Given the description of an element on the screen output the (x, y) to click on. 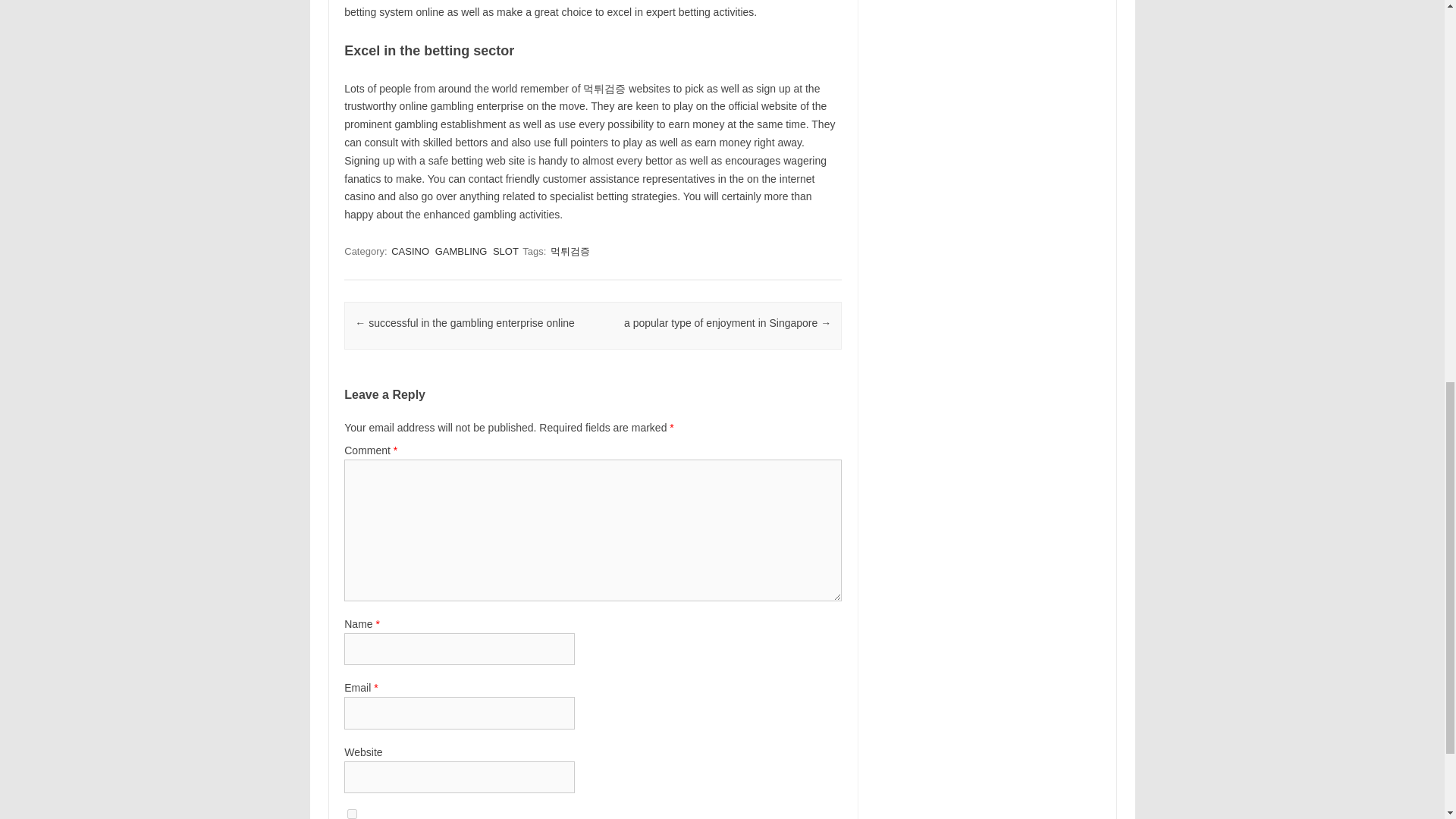
CASINO (410, 251)
GAMBLING (461, 251)
yes (351, 814)
SLOT (505, 251)
